Given the description of an element on the screen output the (x, y) to click on. 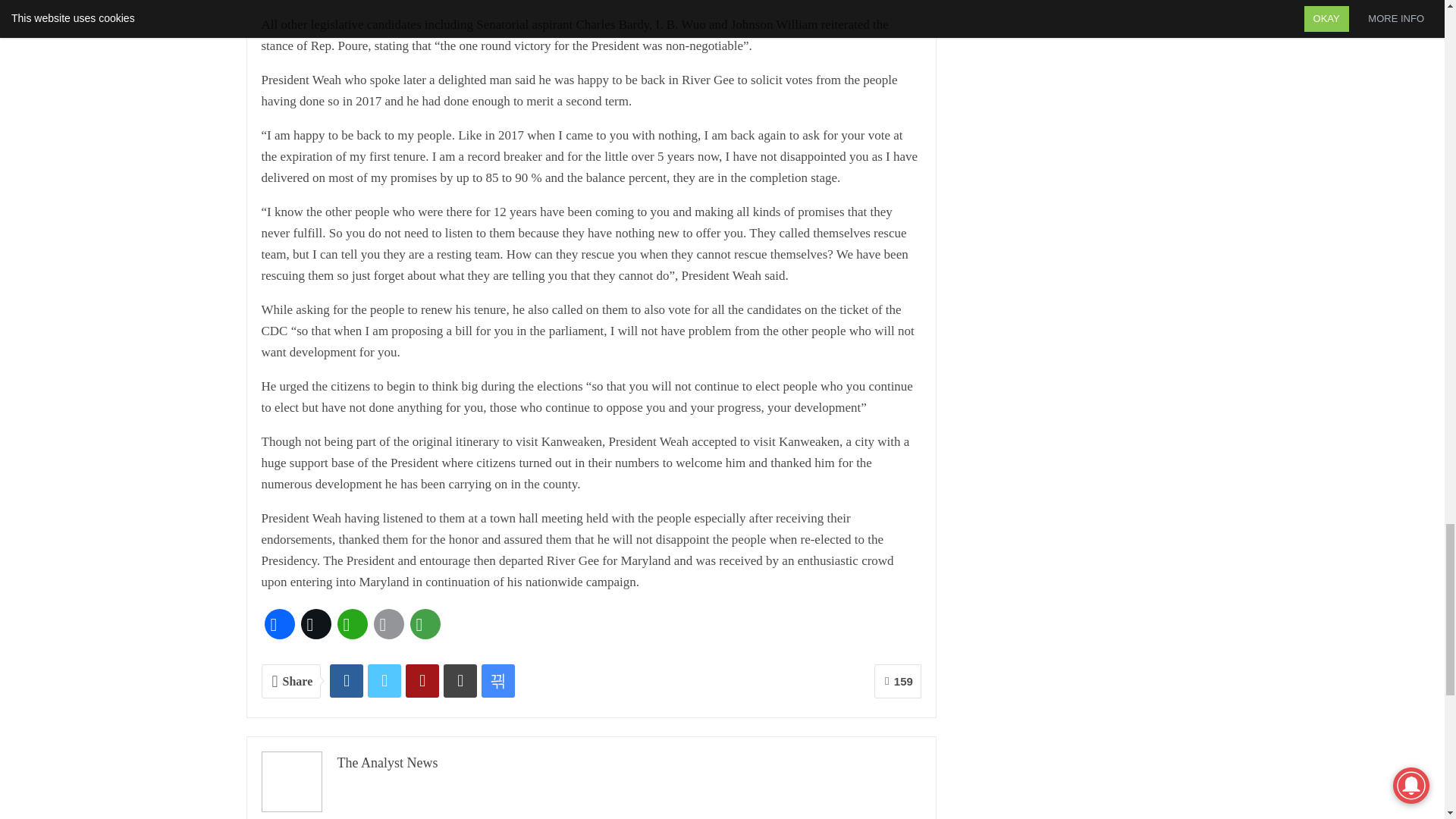
Email This (387, 624)
WhatsApp (351, 624)
More Options (424, 624)
Facebook (278, 624)
